Given the description of an element on the screen output the (x, y) to click on. 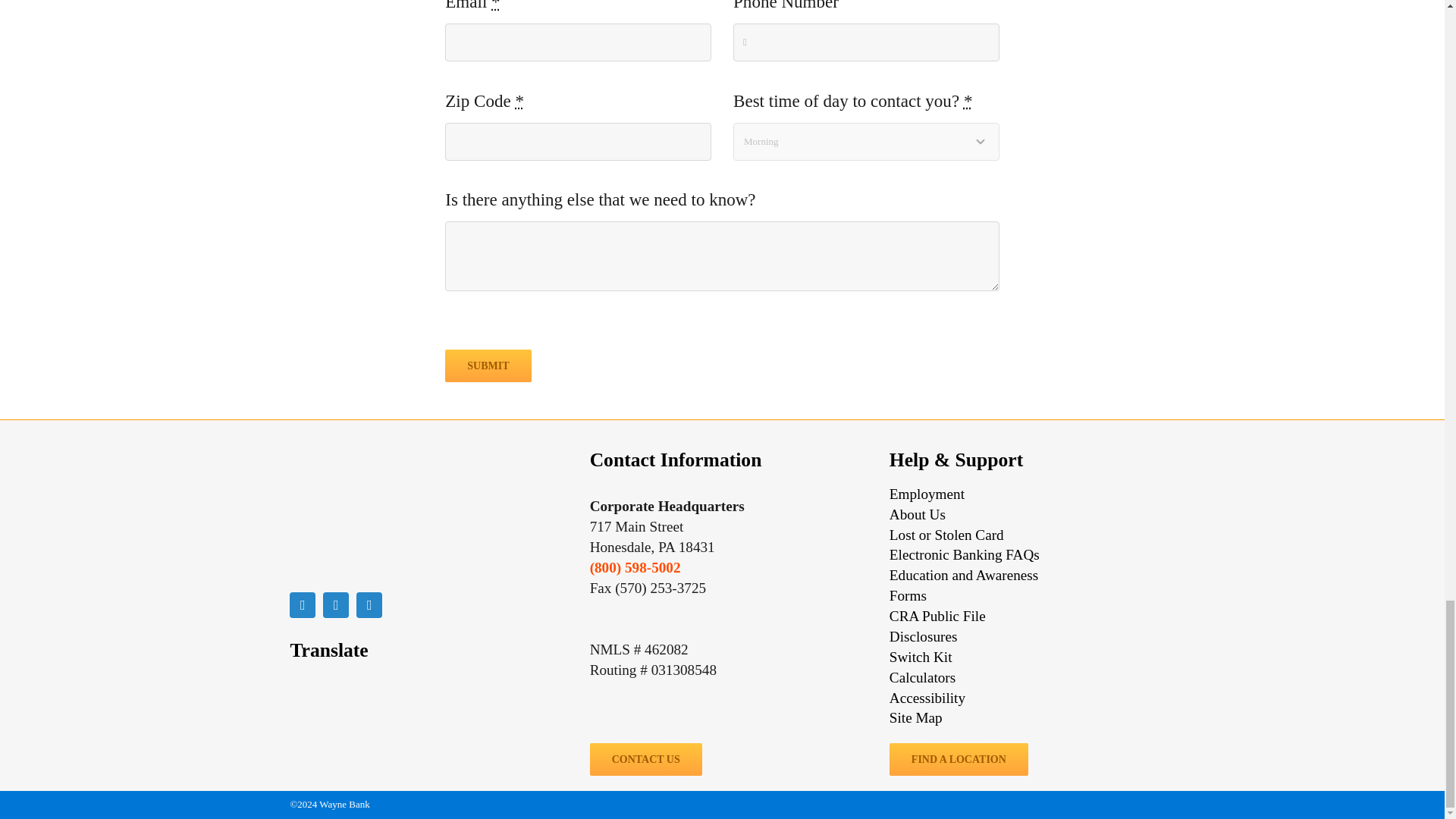
Instagram (368, 605)
LOGO-stacked-1000-2-nofdic (365, 513)
Facebook (302, 605)
X (336, 605)
